Given the description of an element on the screen output the (x, y) to click on. 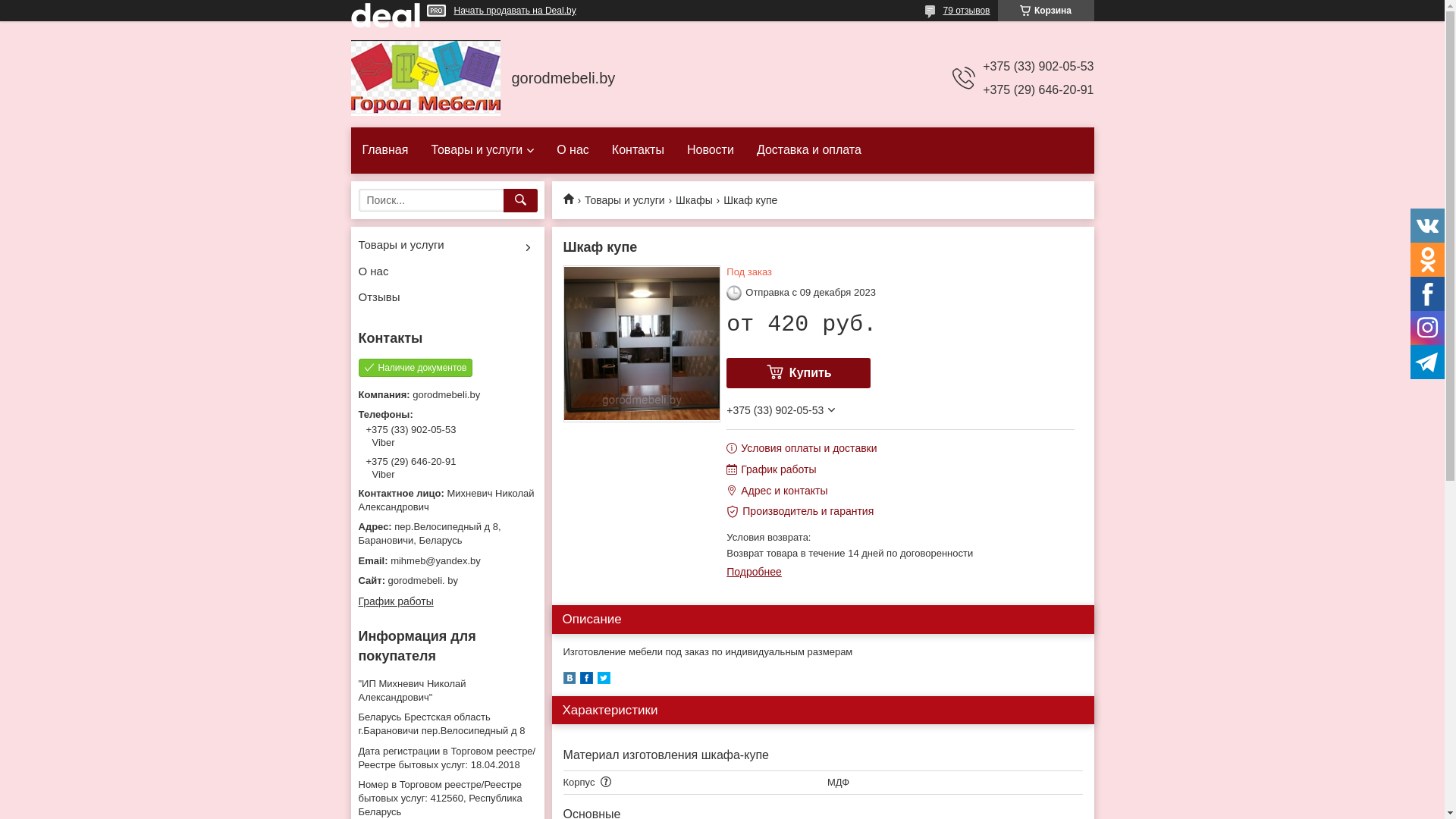
gorodmebeli. by Element type: text (446, 580)
gorodmebeli.by Element type: hover (424, 78)
mihmeb@yandex.by Element type: text (446, 560)
Gorodmebeli.by Element type: hover (572, 198)
facebook Element type: hover (585, 680)
twitter Element type: hover (603, 680)
